Given the description of an element on the screen output the (x, y) to click on. 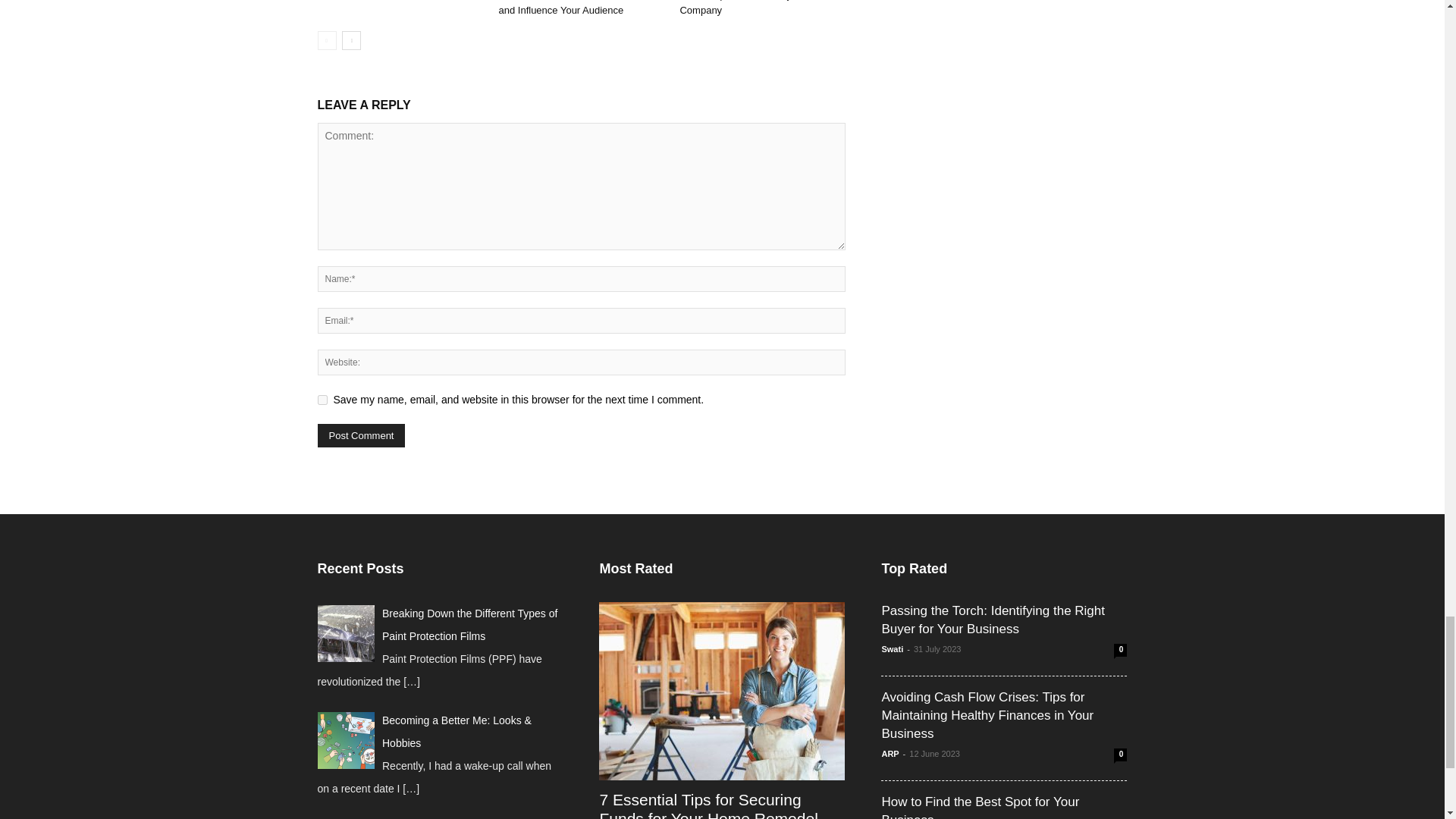
yes (321, 399)
Post Comment (360, 435)
